Given the description of an element on the screen output the (x, y) to click on. 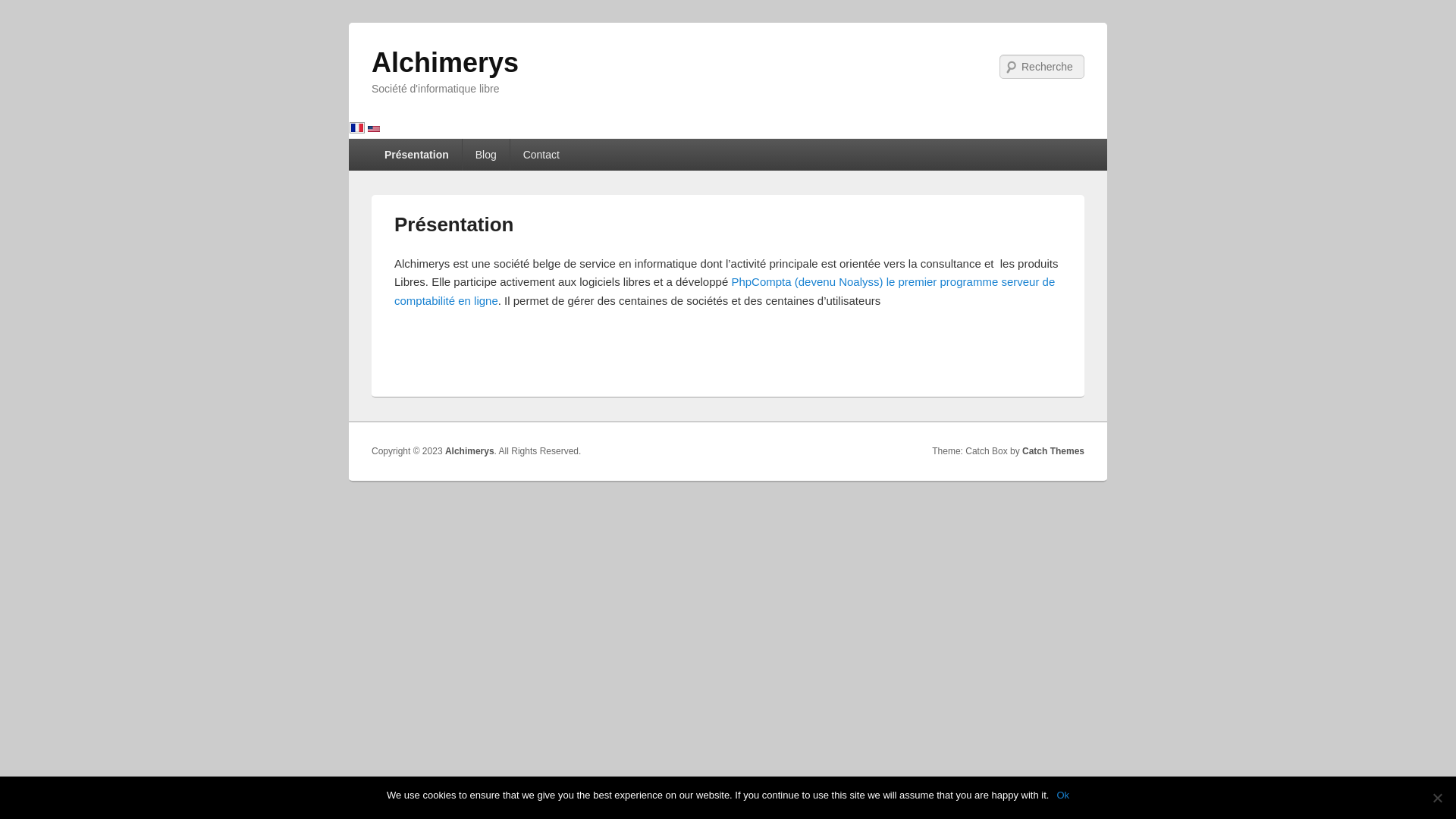
Aller au contenu principal Element type: text (434, 147)
en_US Element type: text (373, 129)
Alchimerys Element type: text (444, 62)
Contact Element type: text (541, 154)
Alchimerys Element type: text (469, 450)
fr_FR Element type: text (356, 128)
Recherche Element type: text (33, 8)
Ok Element type: text (1062, 794)
Aller au contenu secondaire Element type: text (441, 147)
English Element type: hover (373, 129)
Catch Themes Element type: text (1053, 450)
Blog Element type: text (485, 154)
